Given the description of an element on the screen output the (x, y) to click on. 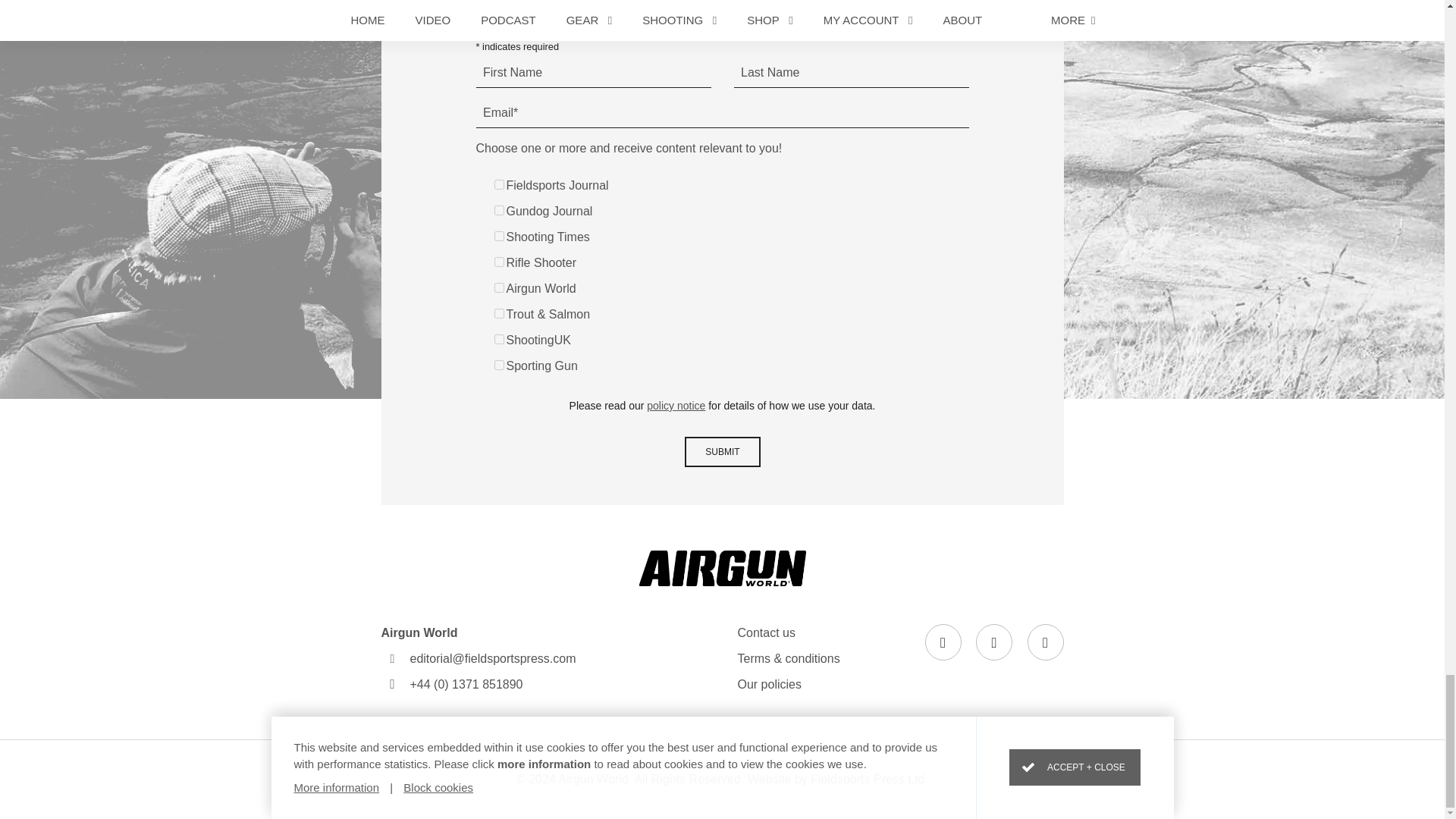
Submit (722, 451)
